Given the description of an element on the screen output the (x, y) to click on. 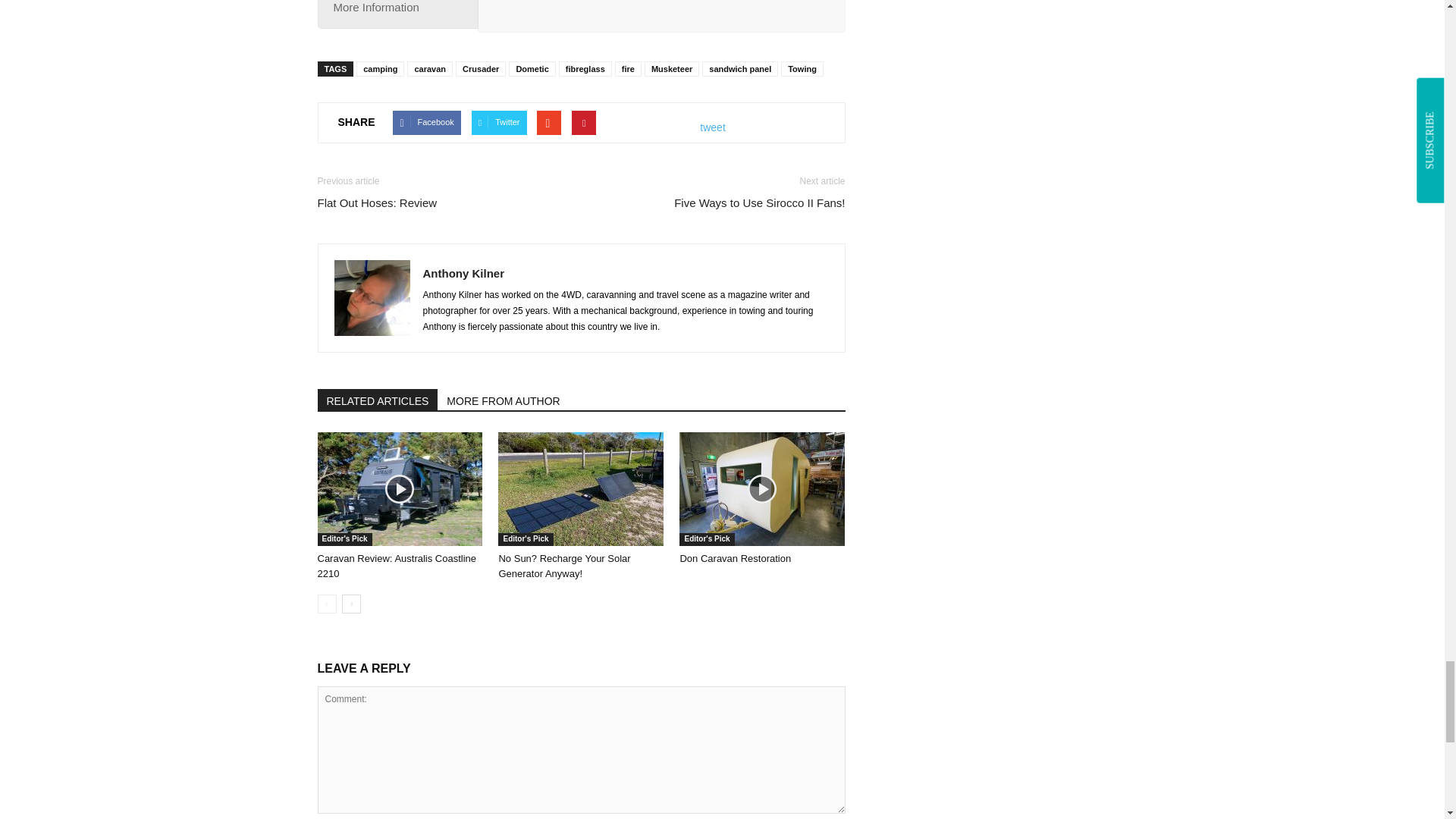
No Sun? Recharge Your Solar Generator Anyway! (580, 489)
No Sun? Recharge Your Solar Generator Anyway! (563, 565)
Caravan Review: Australis Coastline 2210 (399, 489)
Caravan Review: Australis Coastline 2210 (396, 565)
